Given the description of an element on the screen output the (x, y) to click on. 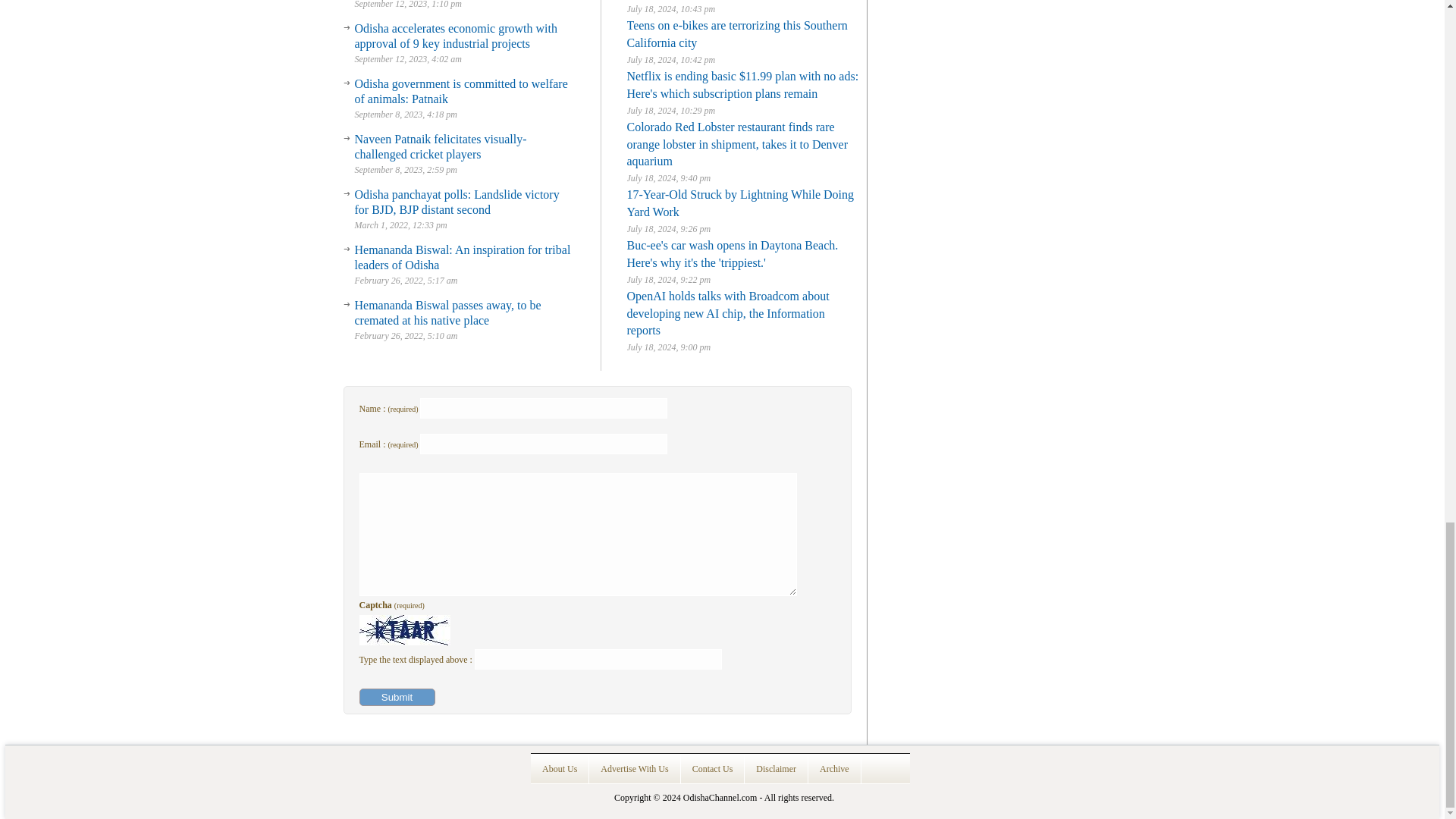
Submit (397, 696)
Submit (397, 696)
17-Year-Old Struck by Lightning While Doing Yard Work (739, 203)
